Given the description of an element on the screen output the (x, y) to click on. 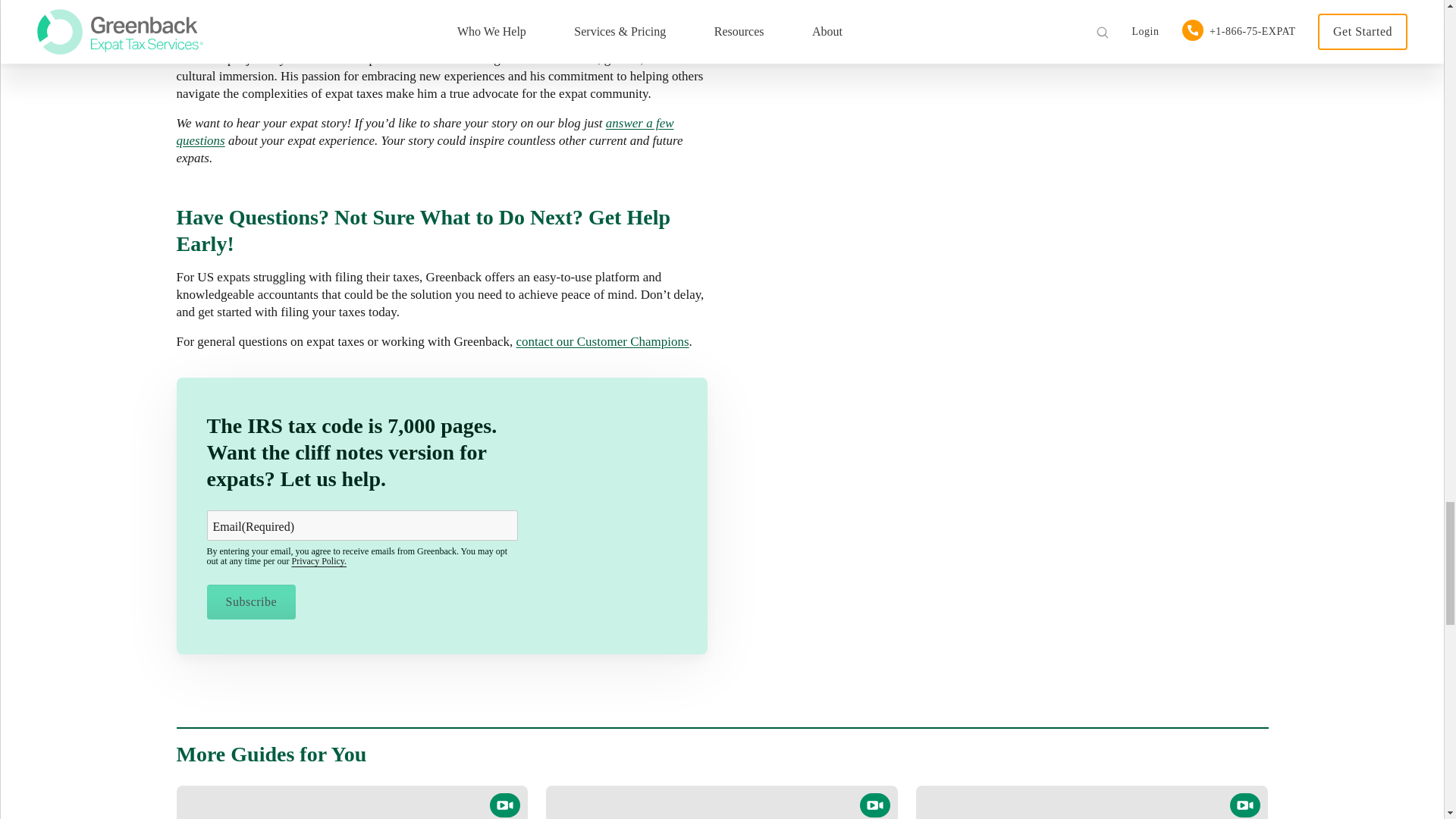
Subscribe (250, 601)
What Expats Need to Know about US Tax Deadlines in 2024 (351, 802)
Digital Nomad Taxes: 8 Things You Need to Know (1091, 802)
Bona Fide Residence vs. Physical Presence Test (722, 802)
